Given the description of an element on the screen output the (x, y) to click on. 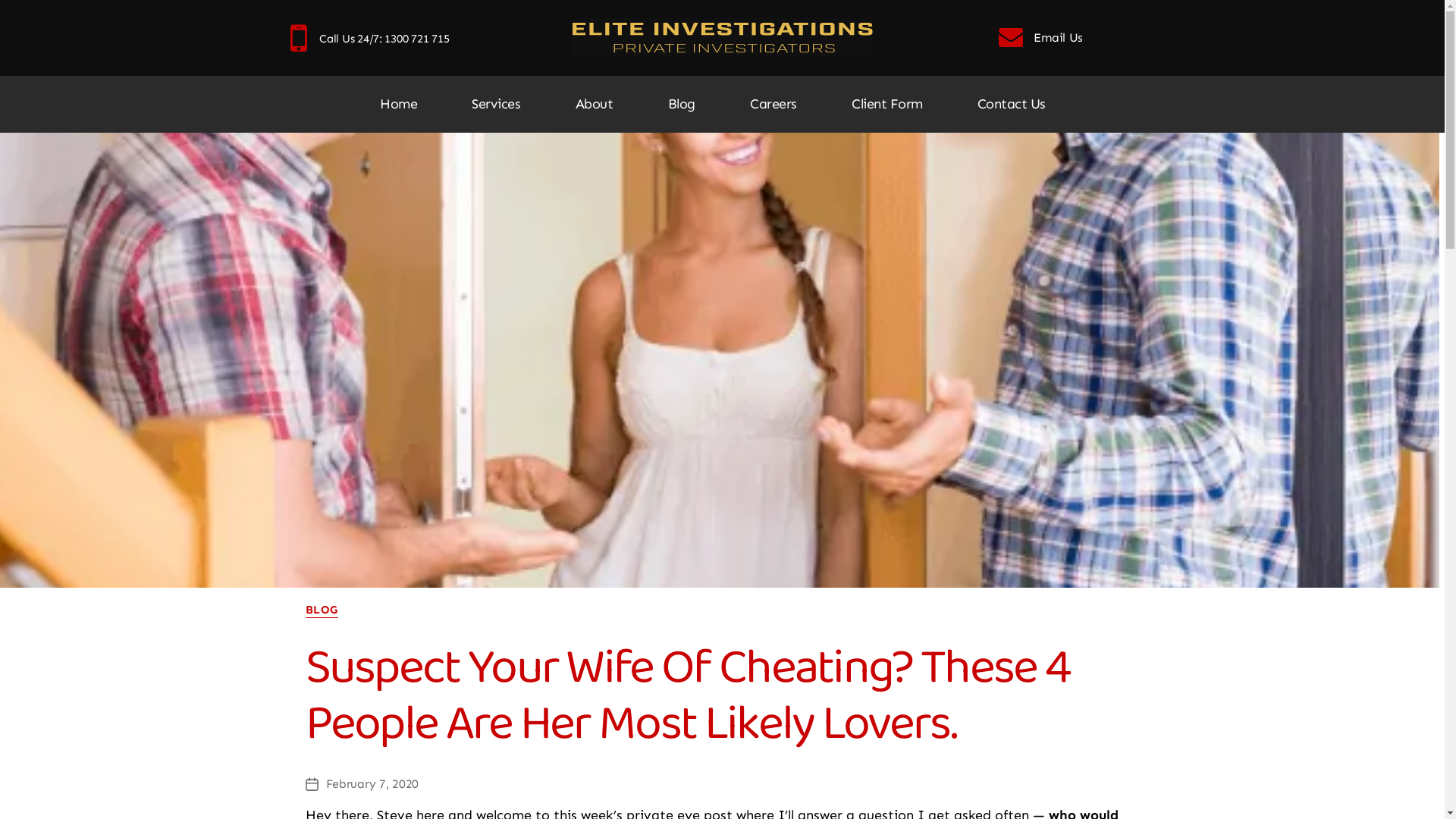
Call Us 24/7: 1300 721 715 Element type: text (383, 38)
Client Form Element type: text (886, 104)
Email Us Element type: text (1046, 37)
February 7, 2020 Element type: text (372, 783)
Home Element type: text (398, 104)
About Element type: text (594, 104)
Services Element type: text (495, 104)
Blog Element type: text (681, 104)
Contact Us Element type: text (1011, 104)
BLOG Element type: text (320, 610)
Careers Element type: text (773, 104)
